Given the description of an element on the screen output the (x, y) to click on. 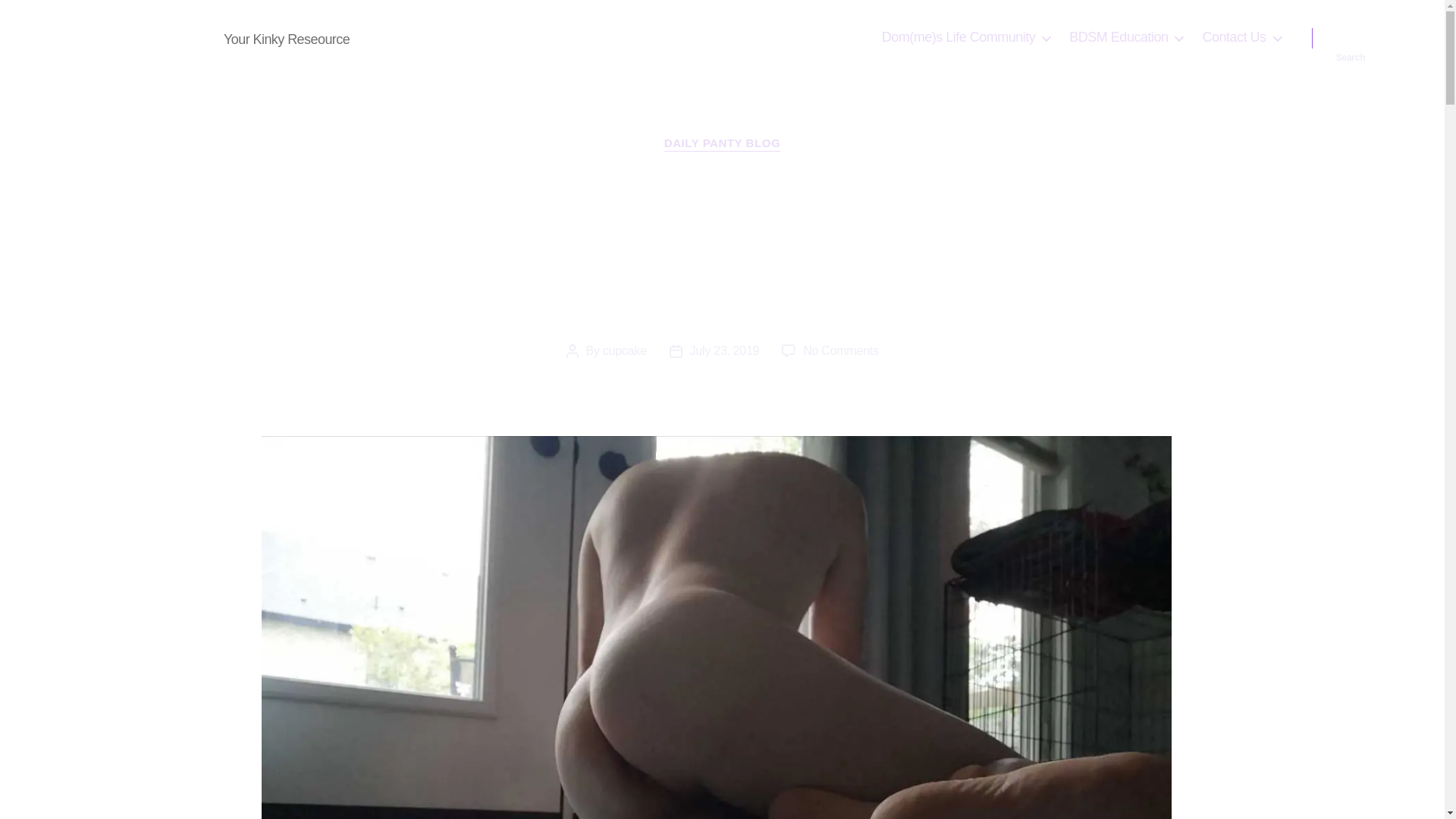
Search (1350, 37)
Contact Us (1241, 37)
BDSM Education (1125, 37)
